Given the description of an element on the screen output the (x, y) to click on. 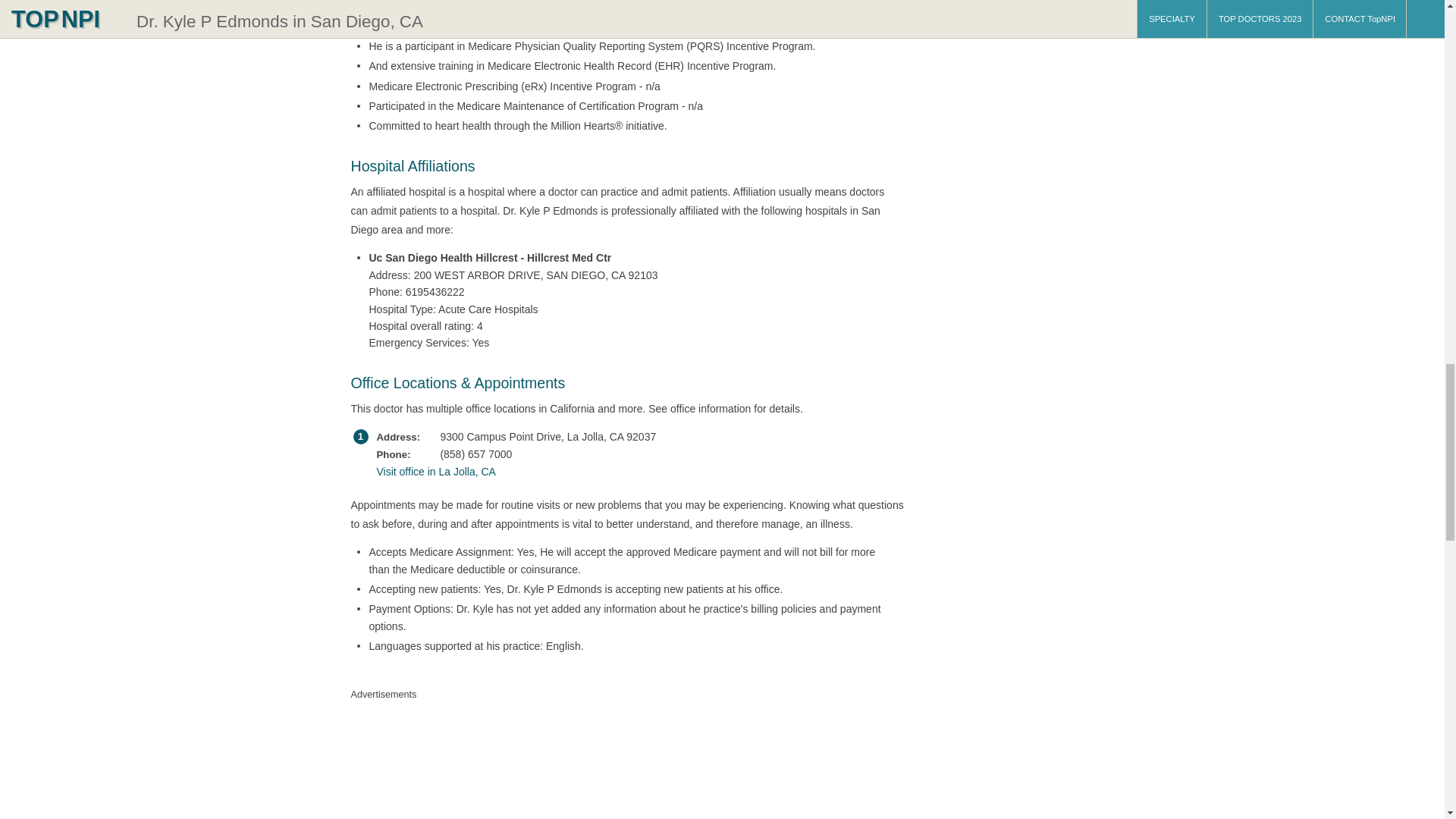
Office in La Jolla, CA (622, 471)
Visit office in La Jolla, CA (622, 471)
